Given the description of an element on the screen output the (x, y) to click on. 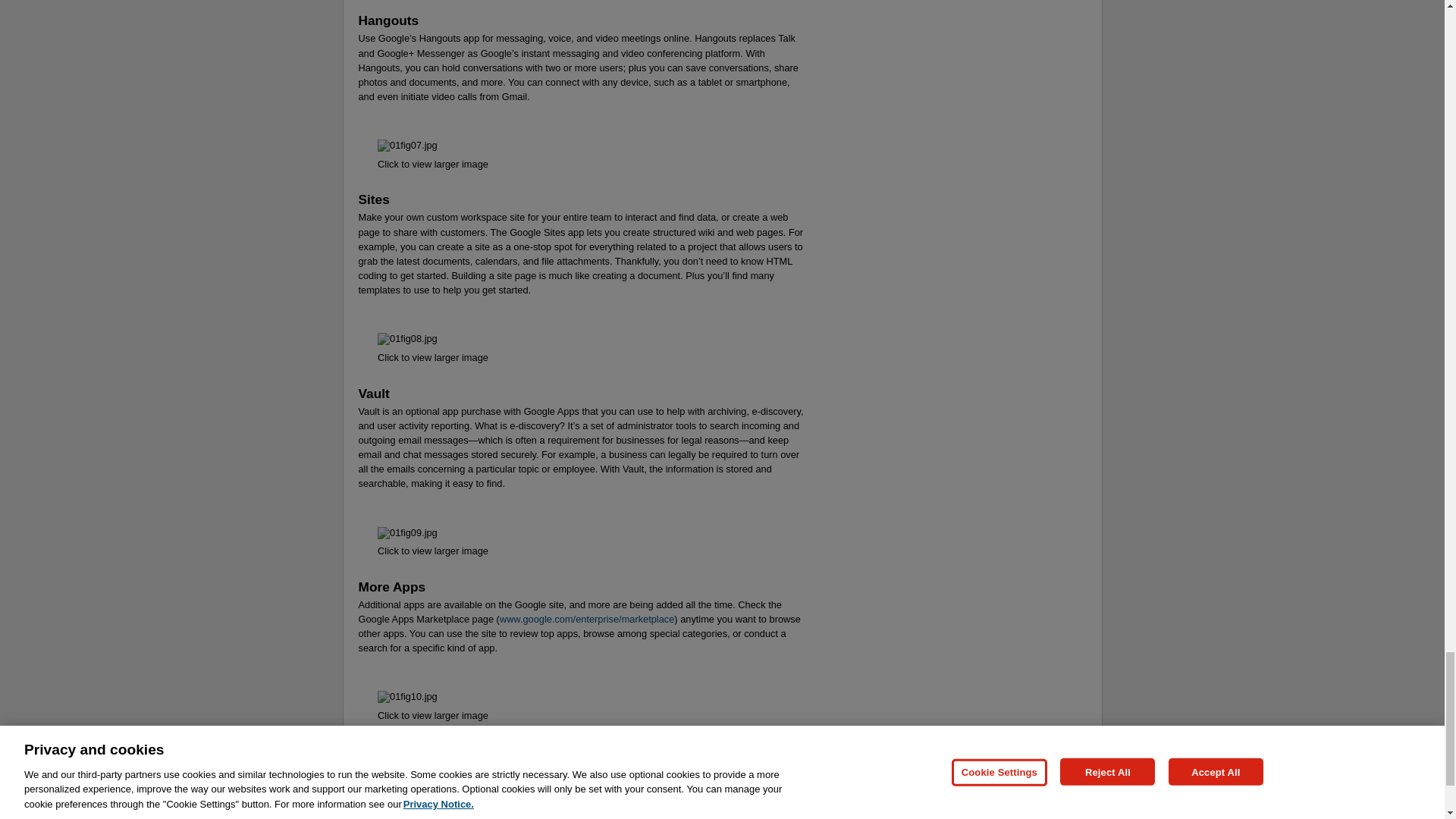
Click to view larger image (432, 163)
